Given the description of an element on the screen output the (x, y) to click on. 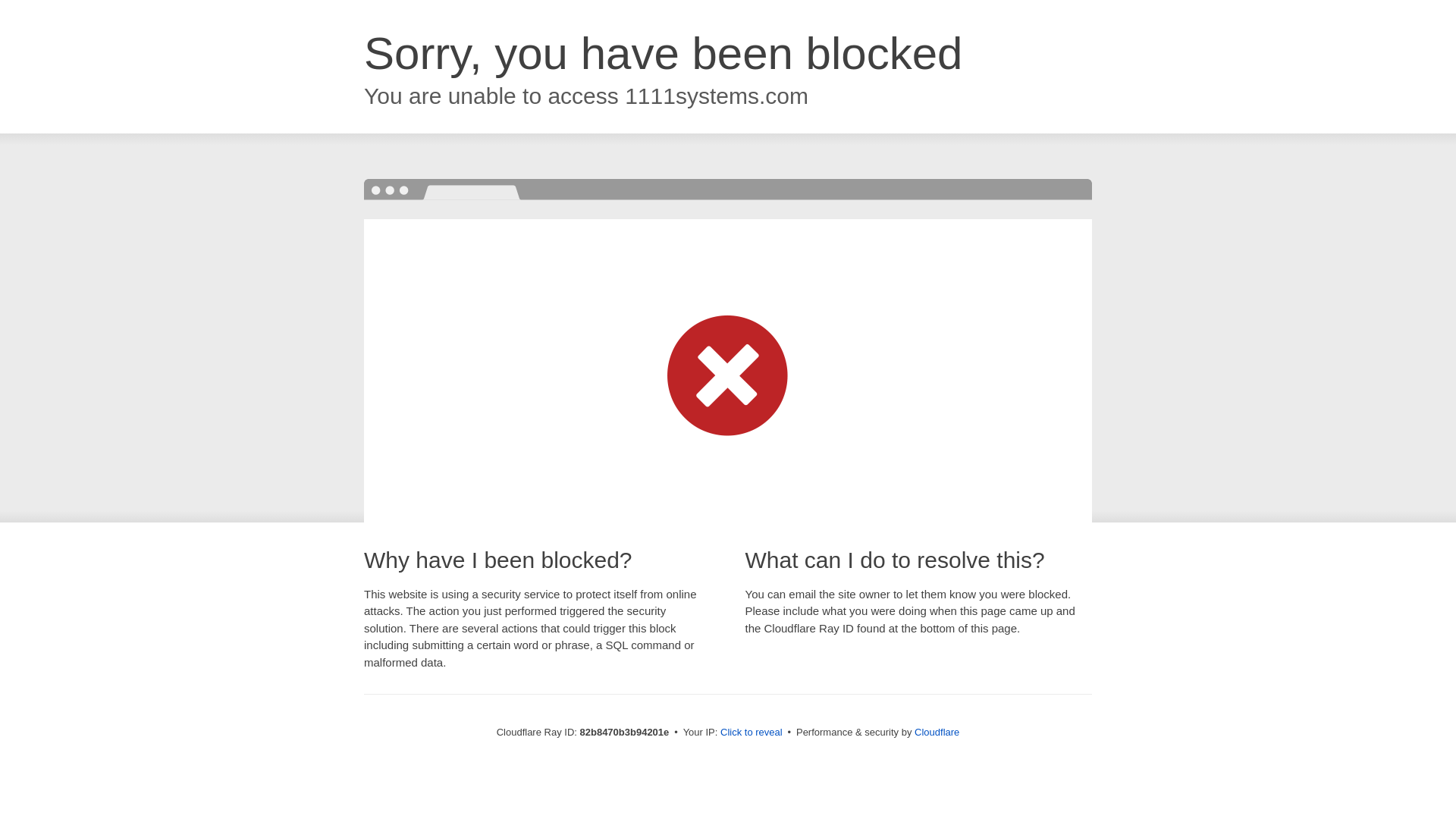
Cloudflare Element type: text (936, 731)
Click to reveal Element type: text (751, 732)
